Given the description of an element on the screen output the (x, y) to click on. 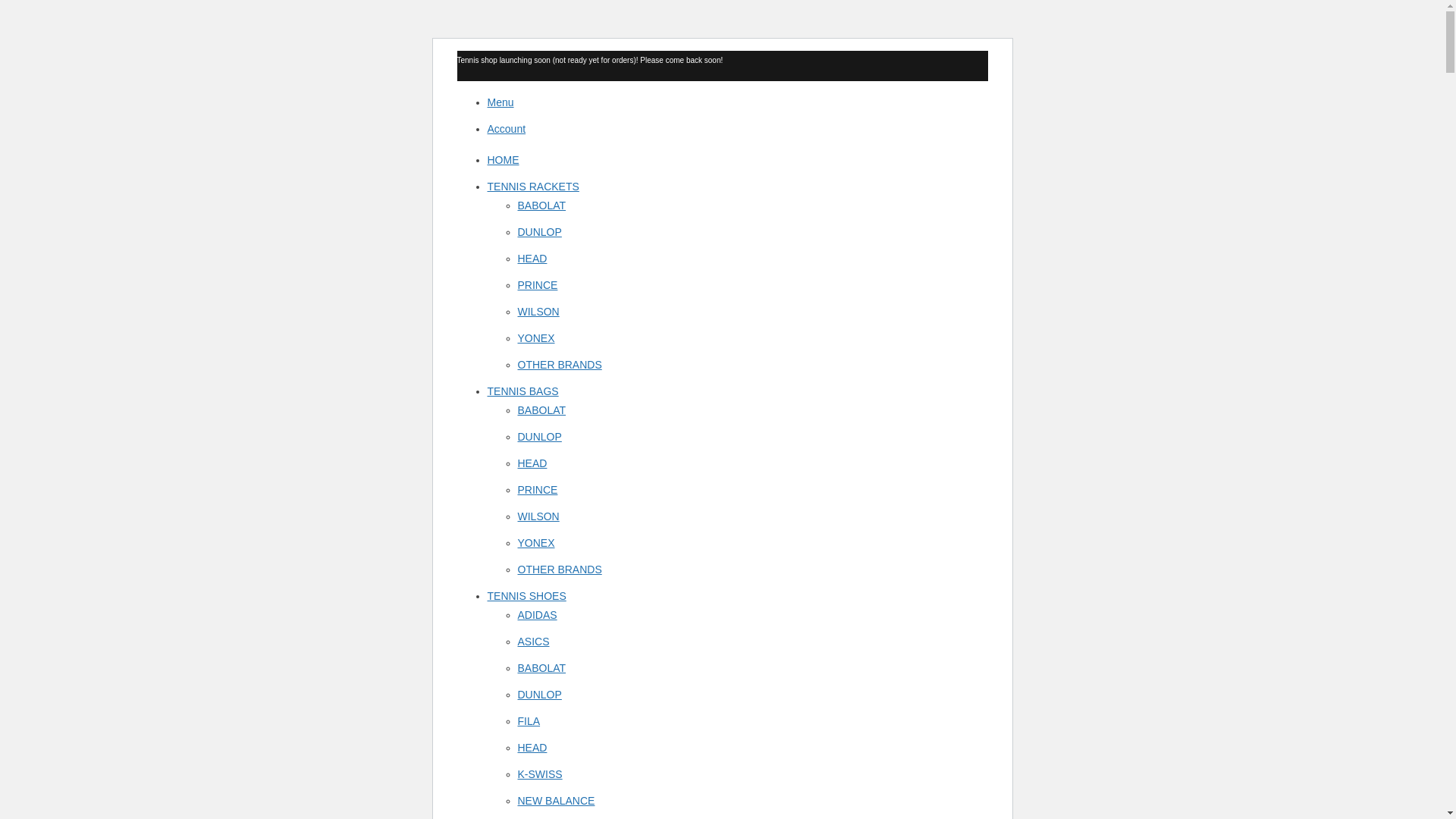
ADIDAS (536, 614)
WILSON (537, 516)
HOME (502, 159)
OTHER BRANDS (558, 569)
PRINCE (536, 285)
DUNLOP (538, 694)
K-SWISS (539, 774)
BABOLAT (541, 667)
OTHER BRANDS (558, 364)
PRINCE (536, 490)
